Given the description of an element on the screen output the (x, y) to click on. 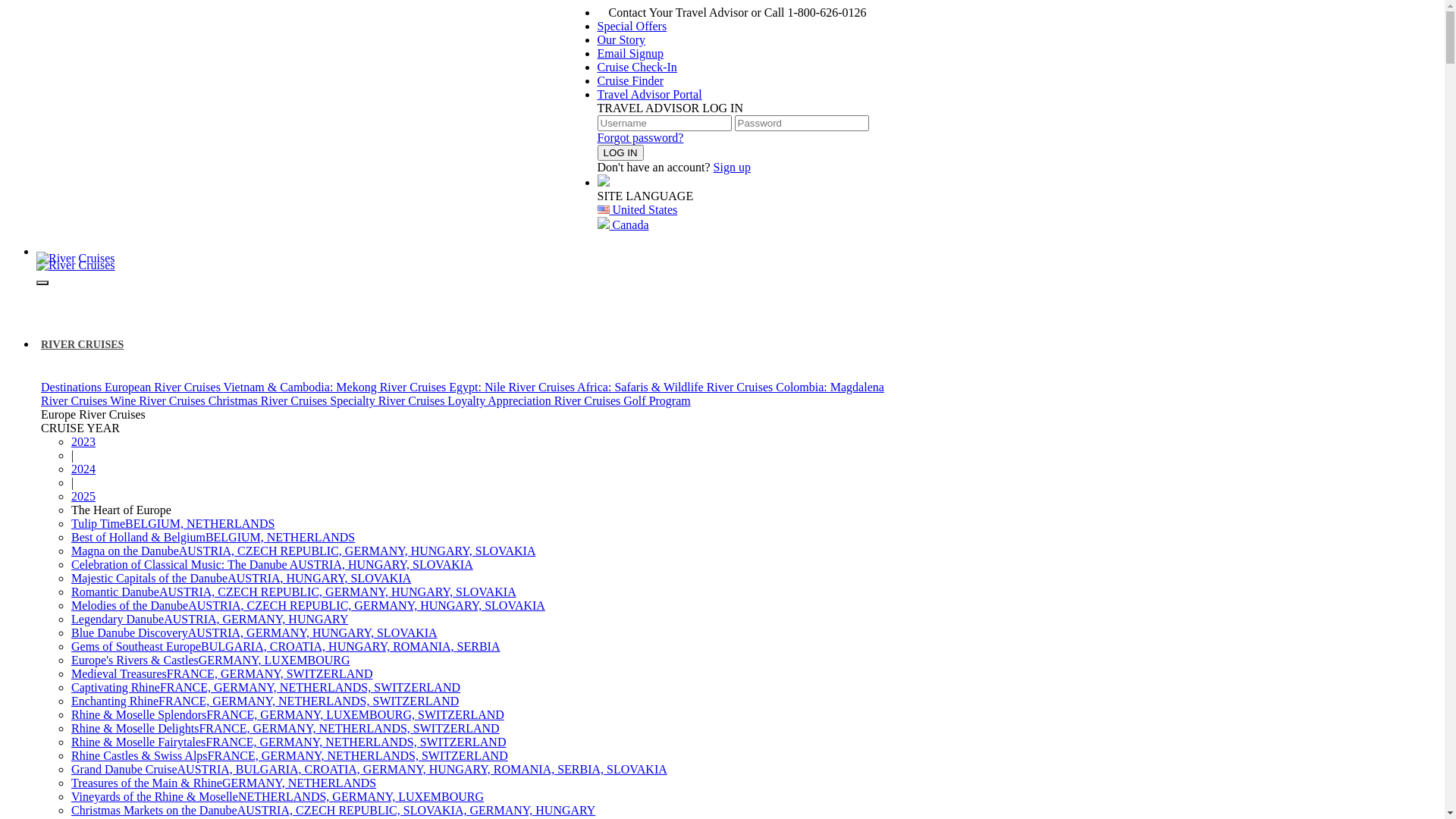
Best of Holland & BelgiumBELGIUM, NETHERLANDS Element type: text (212, 536)
Treasures of the Main & RhineGERMANY, NETHERLANDS Element type: text (223, 782)
Wine River Cruises Element type: text (158, 400)
LOG IN Element type: text (620, 152)
Enchanting RhineFRANCE, GERMANY, NETHERLANDS, SWITZERLAND Element type: text (264, 700)
Canada Element type: text (623, 224)
Christmas River Cruises Element type: text (268, 400)
Specialty River Cruises Element type: text (388, 400)
Golf Program Element type: text (656, 400)
Africa: Safaris & Wildlife River Cruises Element type: text (676, 386)
Loyalty Appreciation River Cruises Element type: text (535, 400)
Colombia: Magdalena River Cruises Element type: text (462, 393)
Cruise Finder Element type: text (630, 80)
Egypt: Nile River Cruises Element type: text (512, 386)
Cruise Check-In Element type: text (637, 66)
Forgot password? Element type: text (640, 137)
Email Signup Element type: text (630, 53)
Our Story Element type: text (621, 39)
RIVER CRUISES Element type: text (84, 344)
Special Offers Element type: text (632, 25)
Majestic Capitals of the DanubeAUSTRIA, HUNGARY, SLOVAKIA Element type: text (241, 577)
Captivating RhineFRANCE, GERMANY, NETHERLANDS, SWITZERLAND Element type: text (265, 686)
2023 Element type: text (83, 441)
AmaWaterways Element type: hover (75, 264)
Button Element type: text (20, 7)
Legendary DanubeAUSTRIA, GERMANY, HUNGARY Element type: text (209, 618)
Medieval TreasuresFRANCE, GERMANY, SWITZERLAND Element type: text (221, 673)
Destinations Element type: text (72, 386)
Europe's Rivers & CastlesGERMANY, LUXEMBOURG Element type: text (210, 659)
United States Element type: text (637, 209)
European River Cruises Element type: text (163, 386)
Vietnam & Cambodia: Mekong River Cruises Element type: text (336, 386)
Travel Advisor Portal Element type: text (649, 93)
Sign up Element type: text (731, 166)
2024 Element type: text (83, 468)
2025 Element type: text (83, 495)
Tulip TimeBELGIUM, NETHERLANDS Element type: text (172, 523)
Blue Danube DiscoveryAUSTRIA, GERMANY, HUNGARY, SLOVAKIA Element type: text (254, 632)
